Given the description of an element on the screen output the (x, y) to click on. 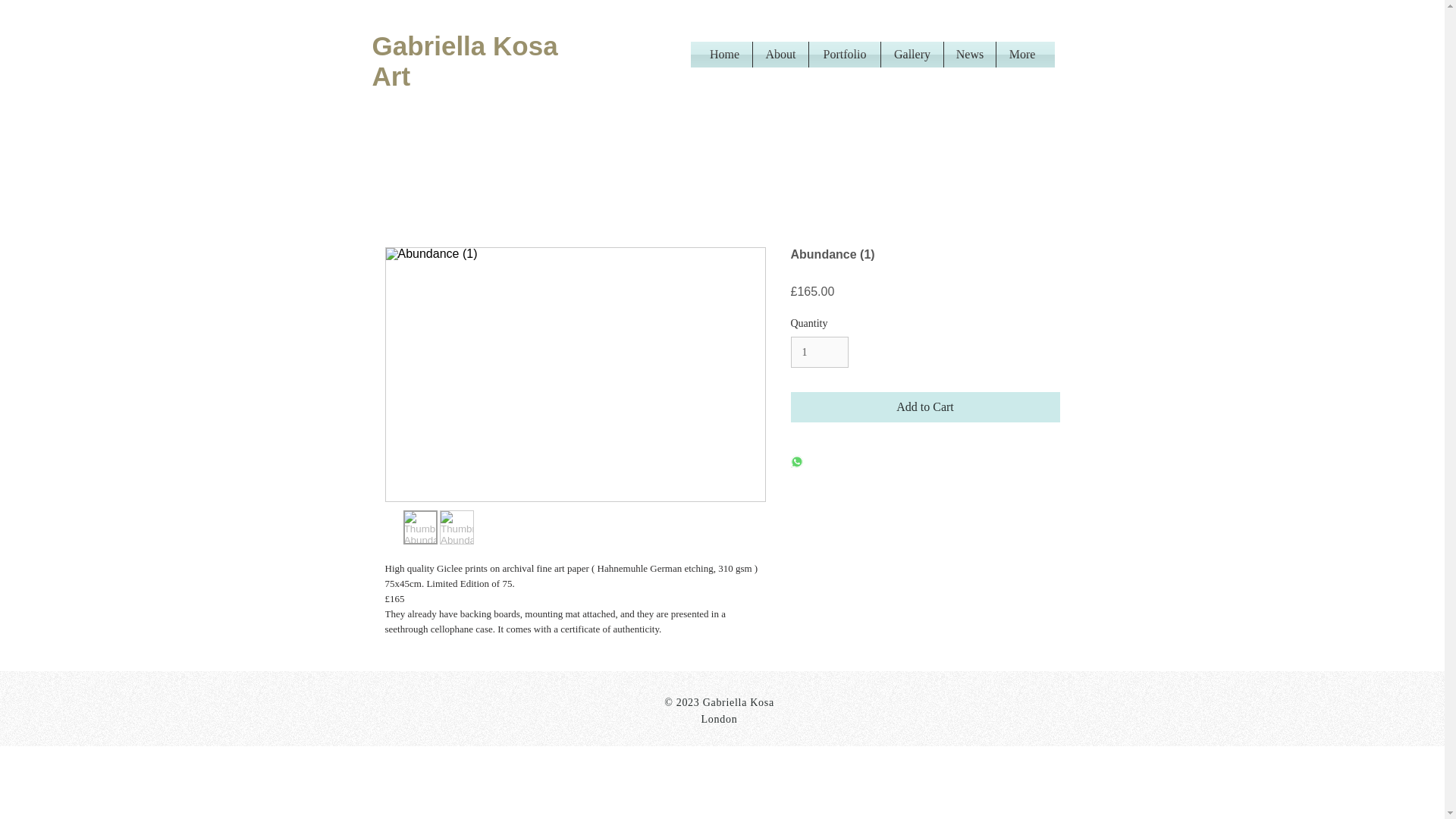
News (969, 54)
About (780, 54)
Portfolio (844, 54)
1 (818, 351)
Home (724, 54)
Gallery (911, 54)
Add to Cart (924, 407)
